Given the description of an element on the screen output the (x, y) to click on. 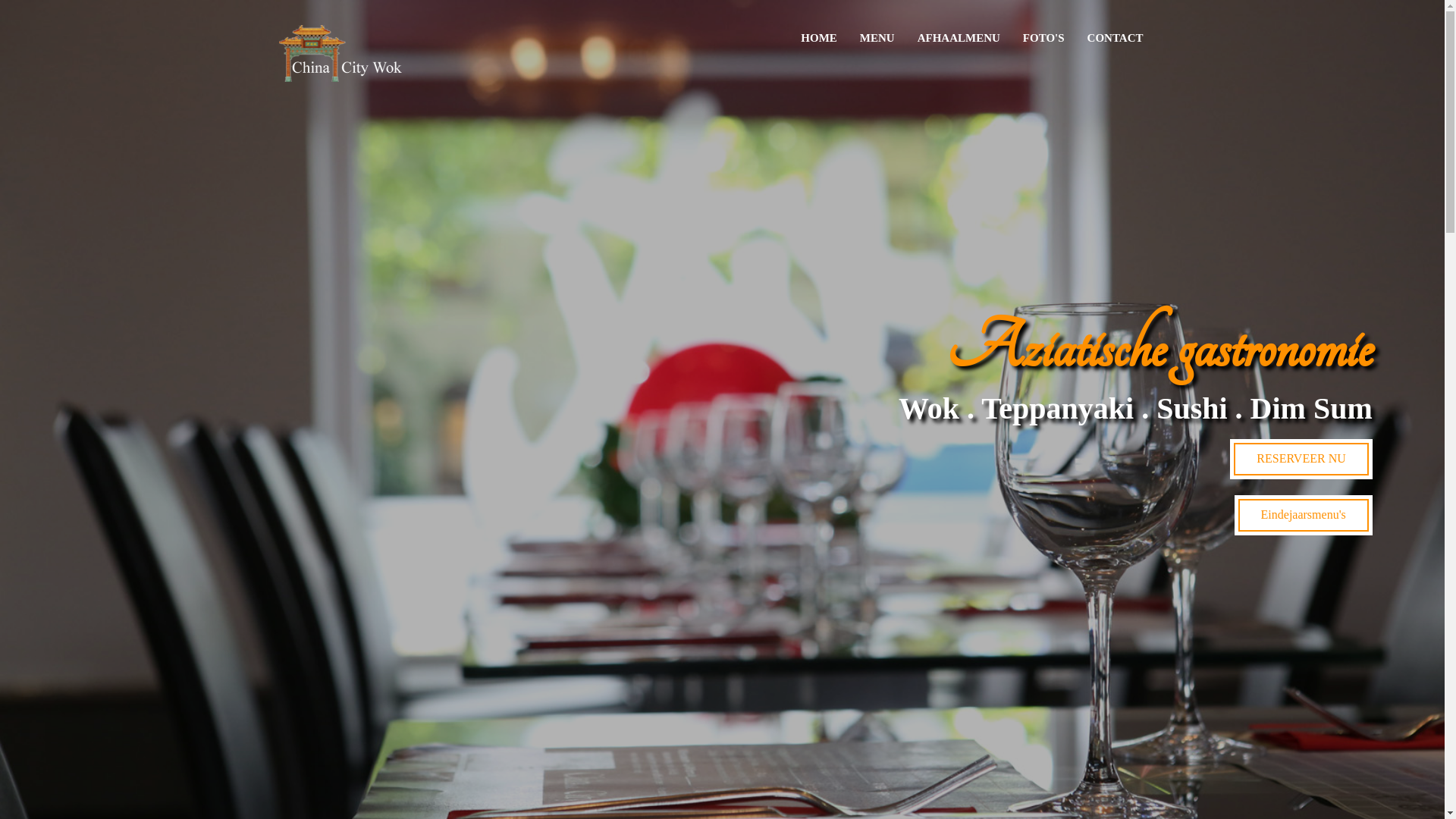
MENU Element type: text (877, 37)
Eindejaarsmenu's Element type: text (1303, 515)
FOTO'S Element type: text (1043, 37)
AFHAALMENU Element type: text (958, 37)
HOME Element type: text (818, 37)
RESERVEER NU Element type: text (1300, 459)
CONTACT Element type: text (1115, 37)
